Given the description of an element on the screen output the (x, y) to click on. 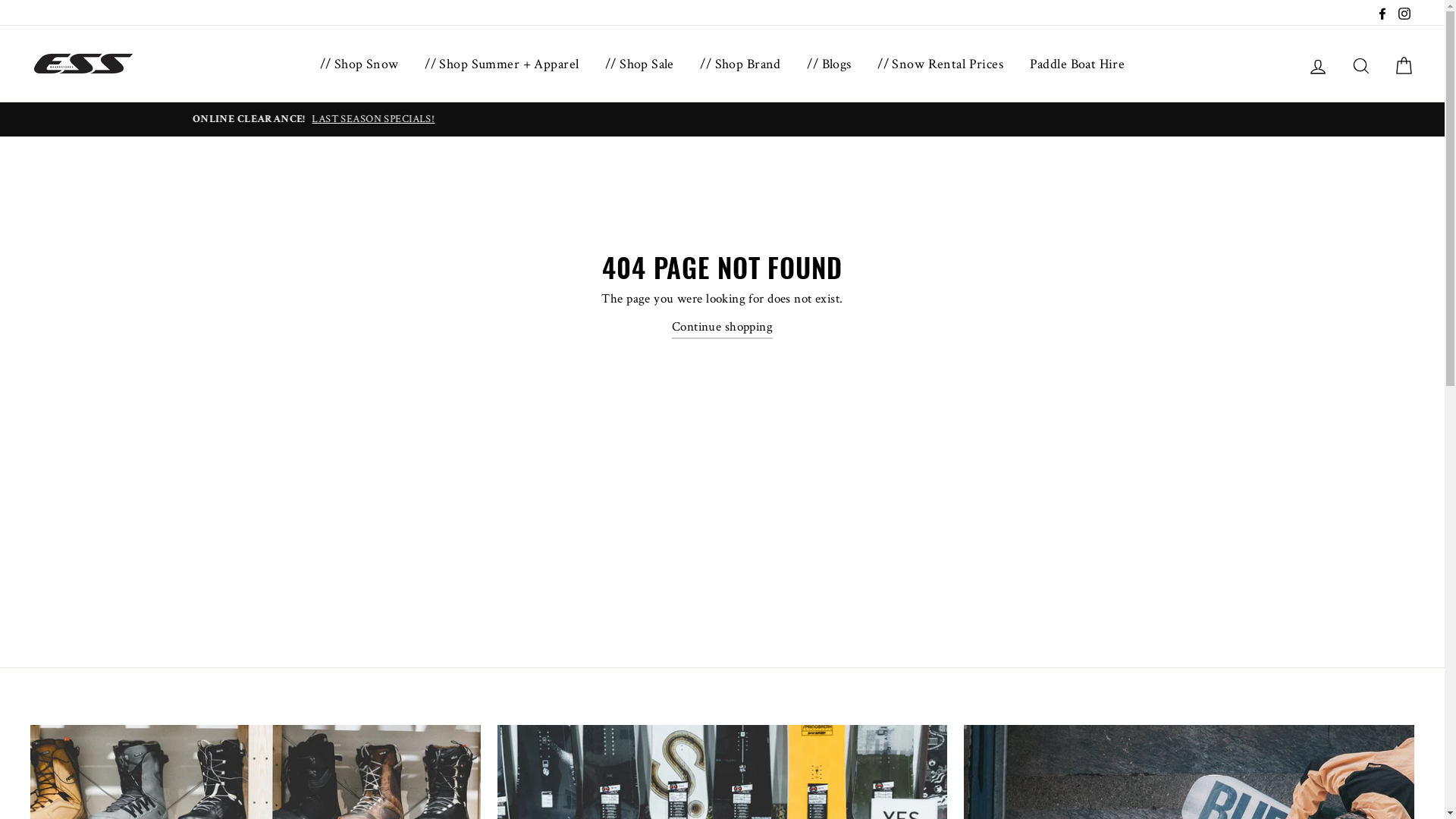
Paddle Boat Hire Element type: text (1077, 63)
Skip to content Element type: text (0, 0)
Continue shopping Element type: text (721, 327)
// Shop Sale Element type: text (639, 63)
Search Element type: text (1360, 63)
// Shop Summer + Apparel Element type: text (501, 63)
Facebook Element type: text (1382, 12)
Instagram Element type: text (1404, 12)
// Blogs Element type: text (828, 63)
ONLINE CLEARANCE! LAST SEASON SPECIALS! Element type: text (722, 118)
Cart Element type: text (1403, 63)
// Shop Snow Element type: text (359, 63)
// Shop Brand Element type: text (740, 63)
Log in Element type: text (1317, 63)
// Snow Rental Prices Element type: text (940, 63)
